Given the description of an element on the screen output the (x, y) to click on. 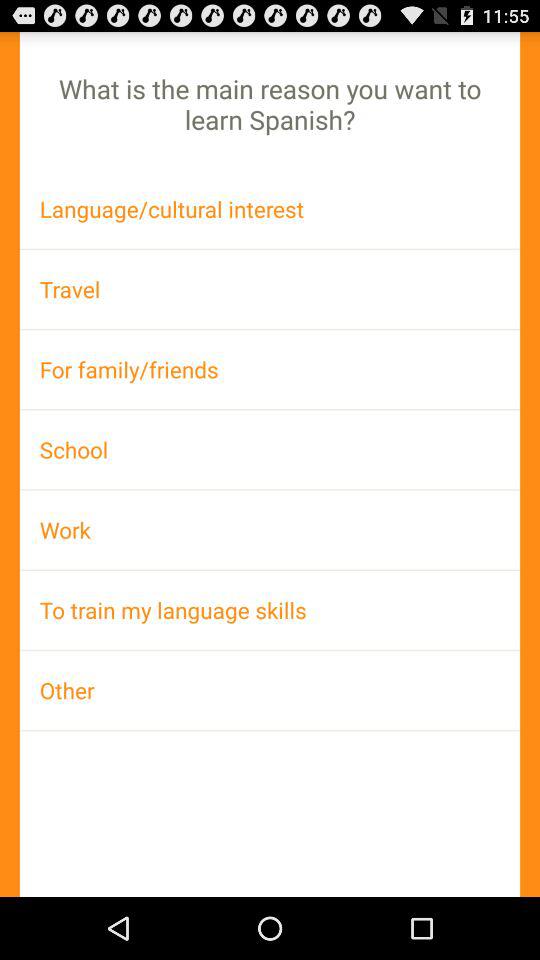
swipe until other (269, 690)
